Given the description of an element on the screen output the (x, y) to click on. 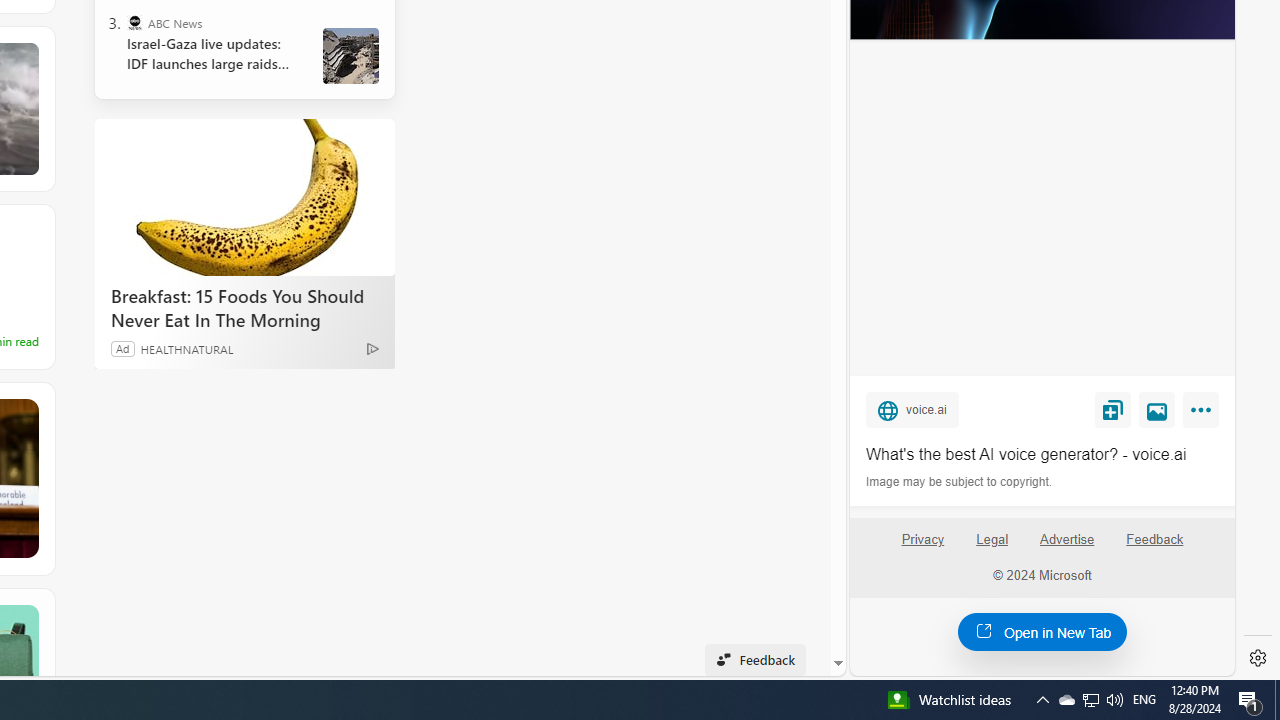
Open in New Tab (1042, 631)
Privacy (922, 539)
Privacy (922, 547)
Advertise (1066, 539)
Breakfast: 15 Foods You Should Never Eat In The Morning (244, 196)
Legal (991, 539)
ABC News (134, 22)
voice.ai (912, 409)
Breakfast: 15 Foods You Should Never Eat In The Morning (244, 307)
